Given the description of an element on the screen output the (x, y) to click on. 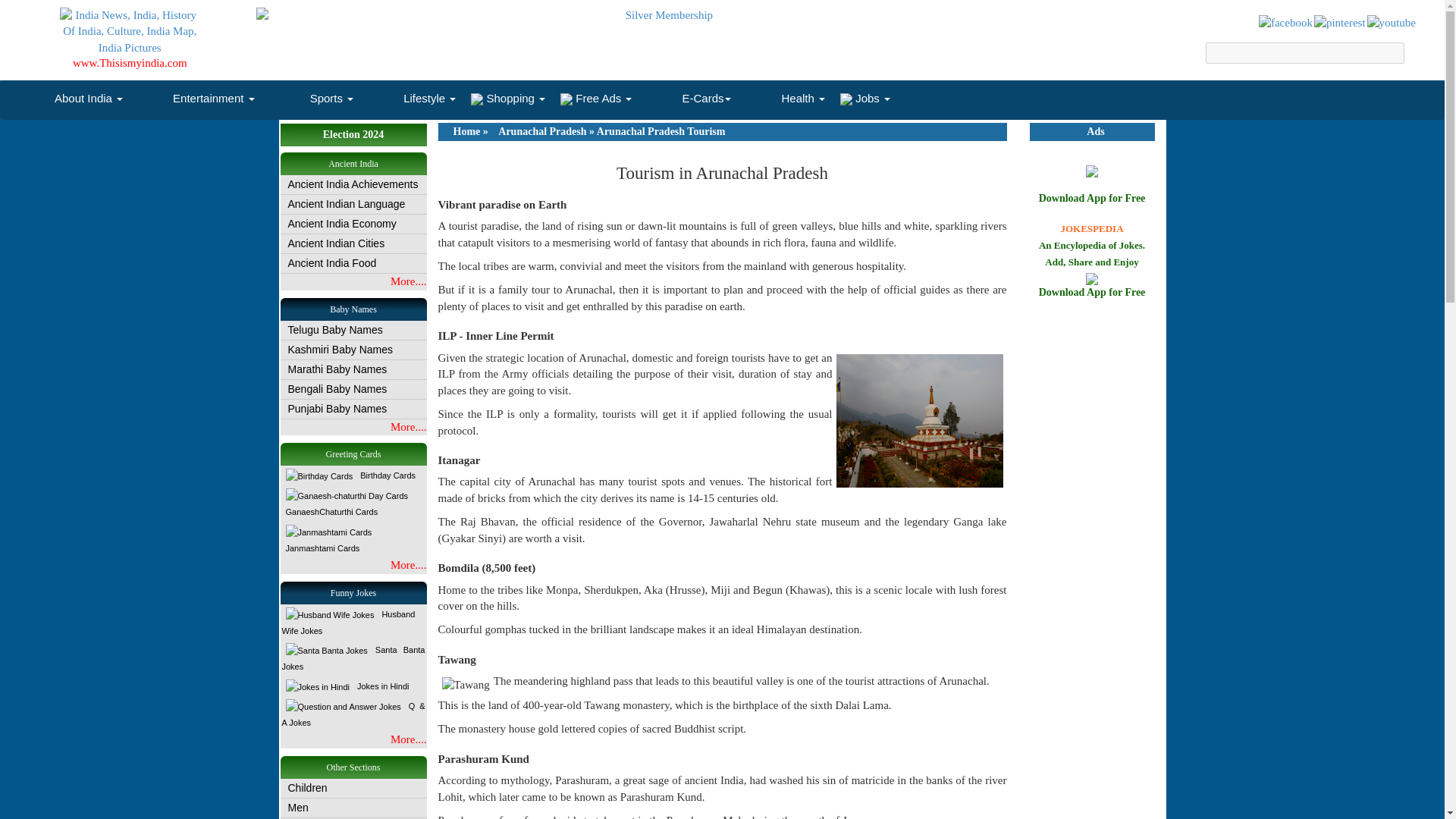
India News (1390, 27)
Entertainment (196, 97)
India News (1285, 27)
About India (71, 97)
India News (1339, 27)
www.Thisismyindia.com (129, 62)
Silver Membership (663, 15)
